Given the description of an element on the screen output the (x, y) to click on. 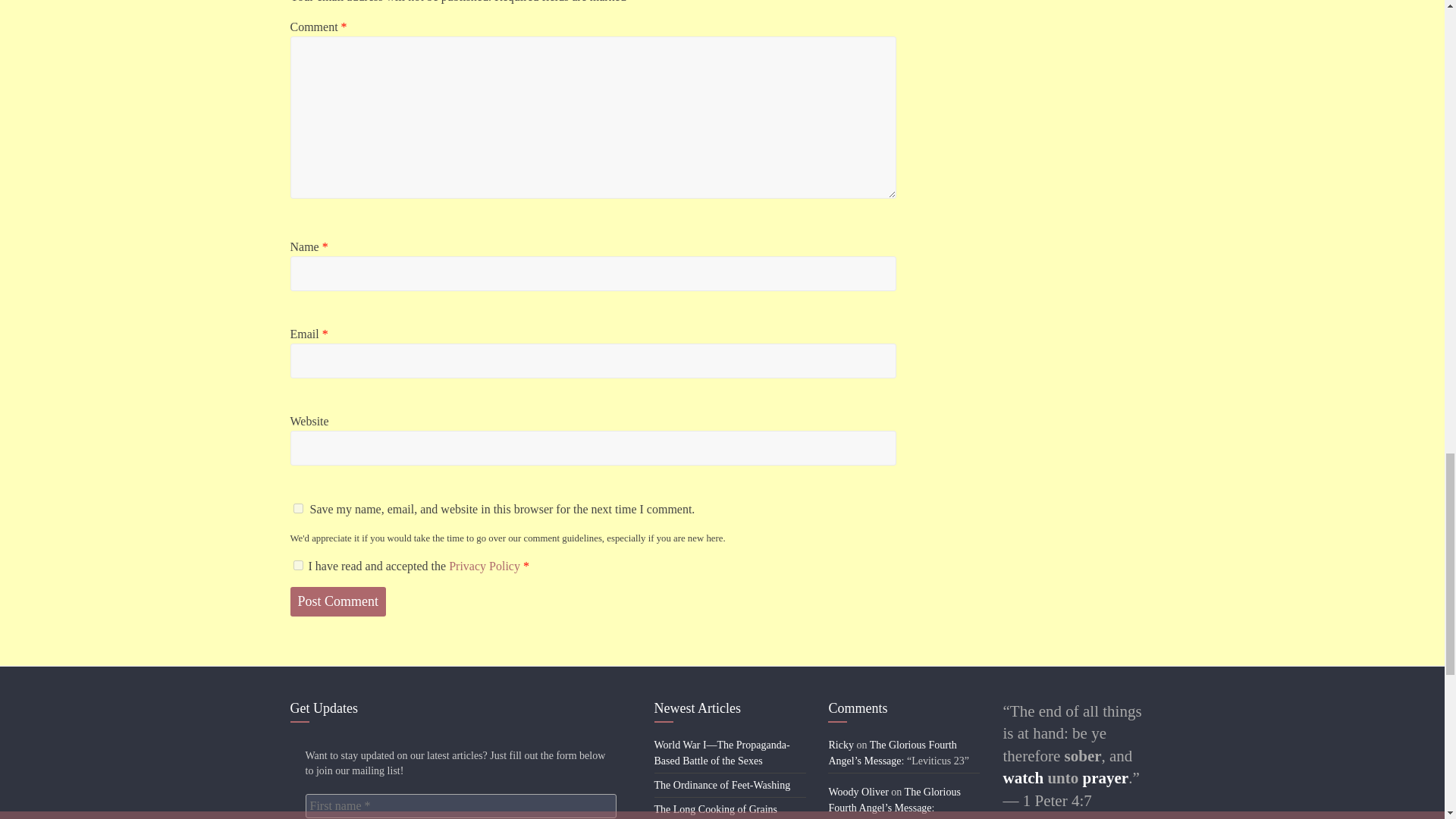
First name (459, 805)
Post Comment (337, 601)
yes (297, 508)
policy-key (297, 565)
